Given the description of an element on the screen output the (x, y) to click on. 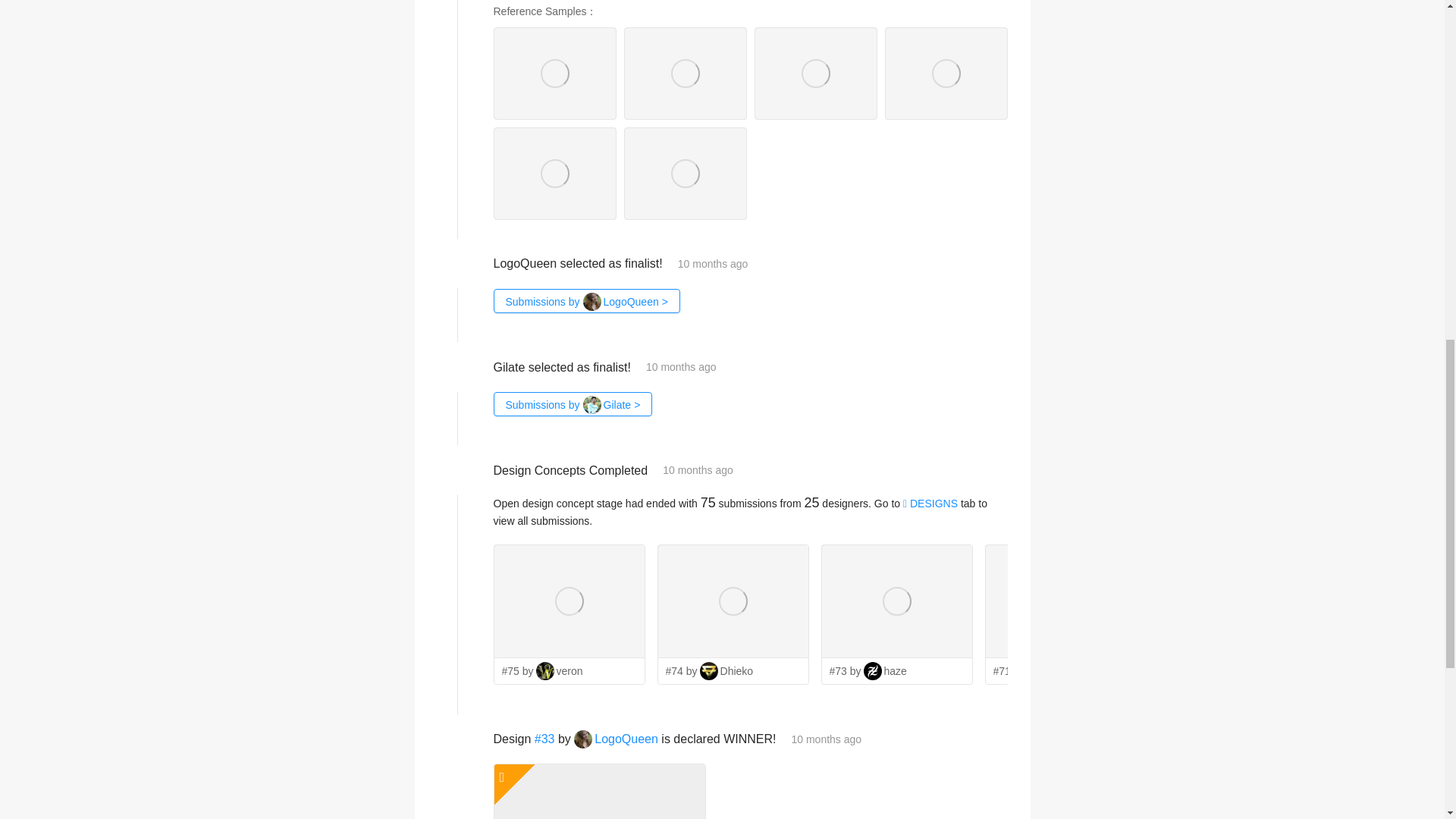
Dhieko (727, 670)
Kir (1207, 670)
veron (559, 670)
haze (885, 670)
sheilavalencia (1398, 670)
subrata (1055, 670)
DESIGNS (930, 503)
1 (1214, 645)
